Given the description of an element on the screen output the (x, y) to click on. 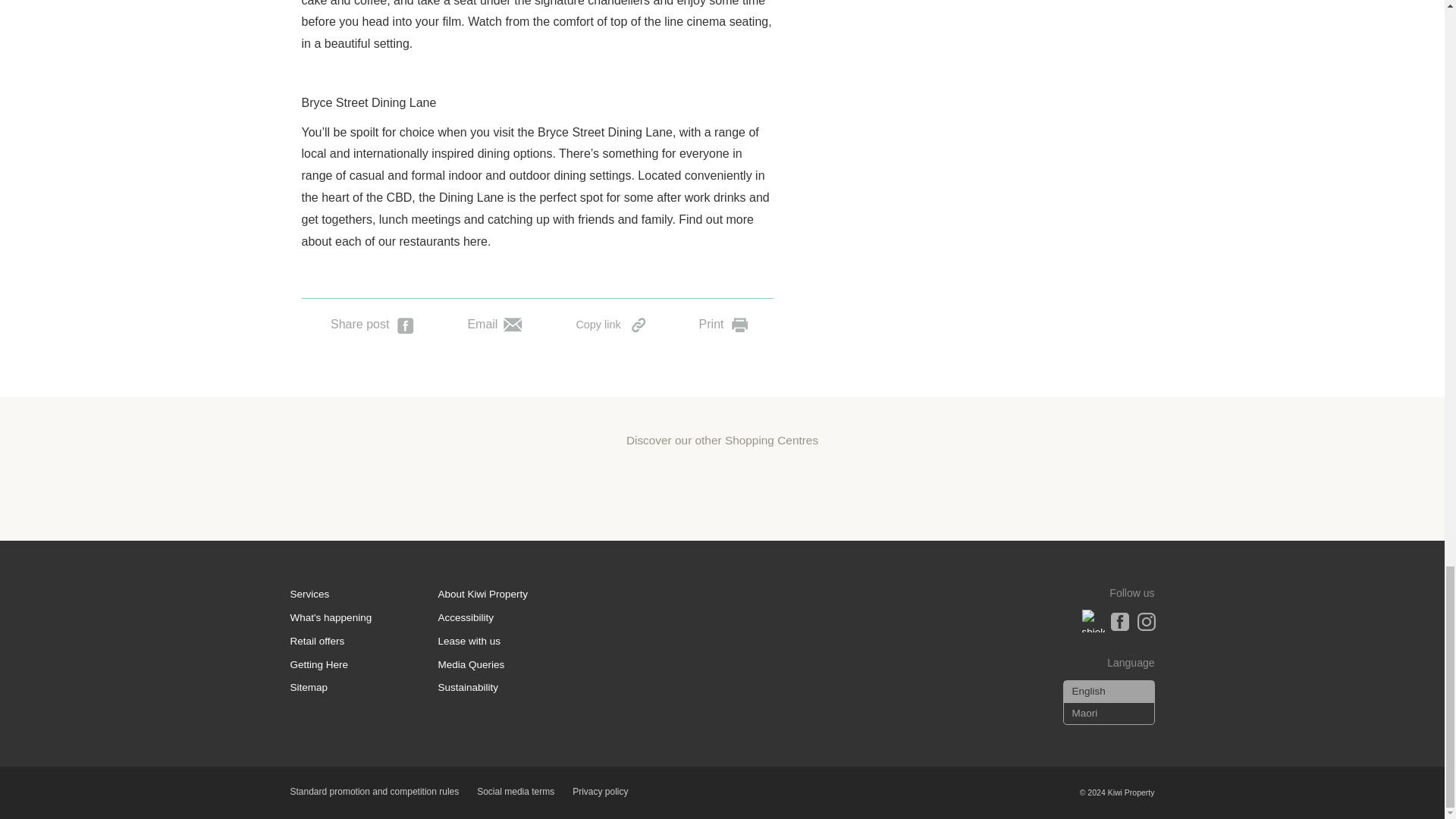
Visit the The Base website (722, 486)
Visit the The Plaza website (836, 486)
Visit the Northlands website (951, 486)
Share post (371, 322)
What's happening (330, 617)
Visit the LynnMall website (607, 486)
Print (723, 322)
Email (494, 322)
Services (309, 593)
Copy link (610, 322)
Visit the Sylvia Park website (491, 486)
